Given the description of an element on the screen output the (x, y) to click on. 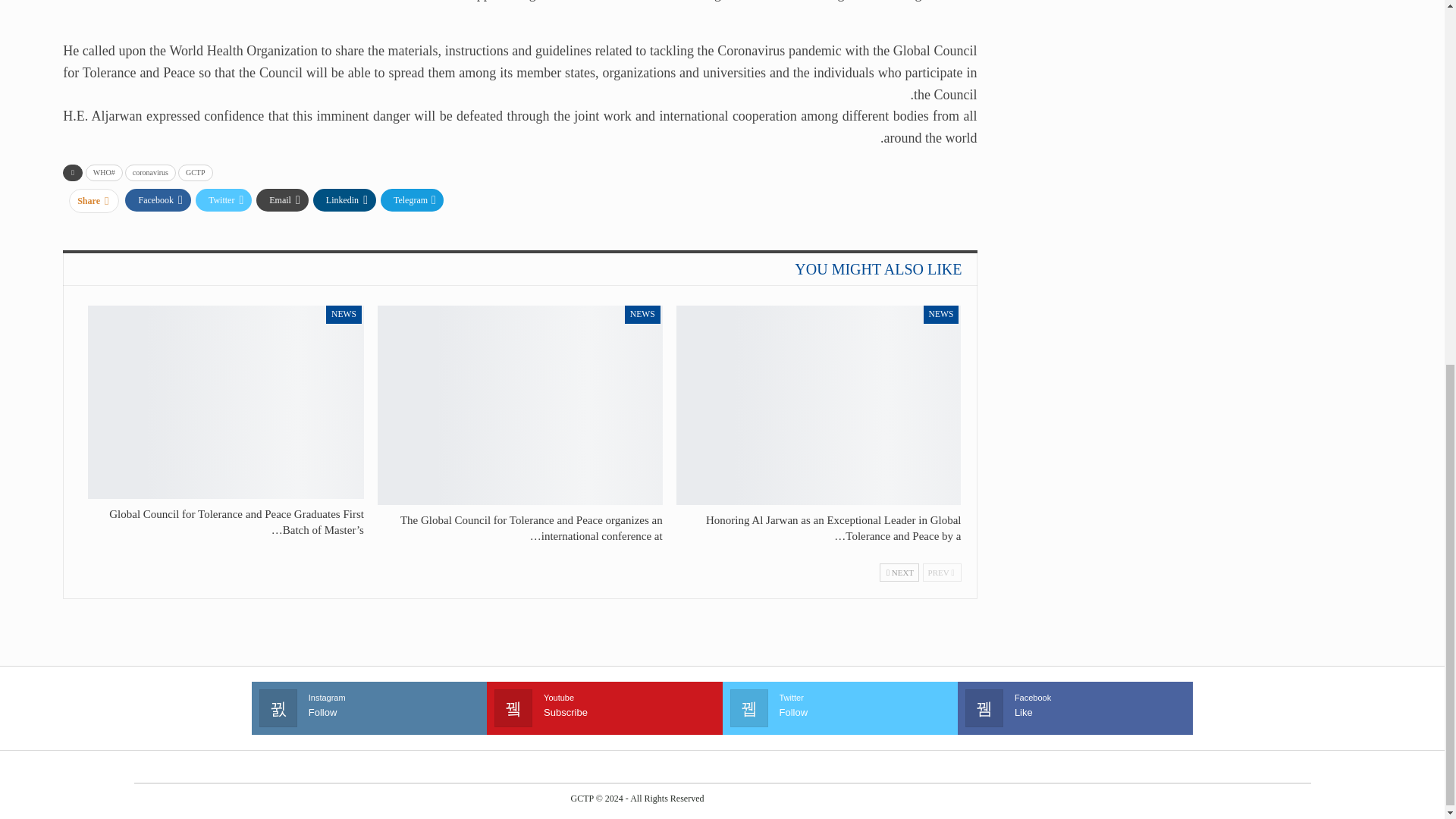
Previous (941, 572)
Next (898, 572)
